Given the description of an element on the screen output the (x, y) to click on. 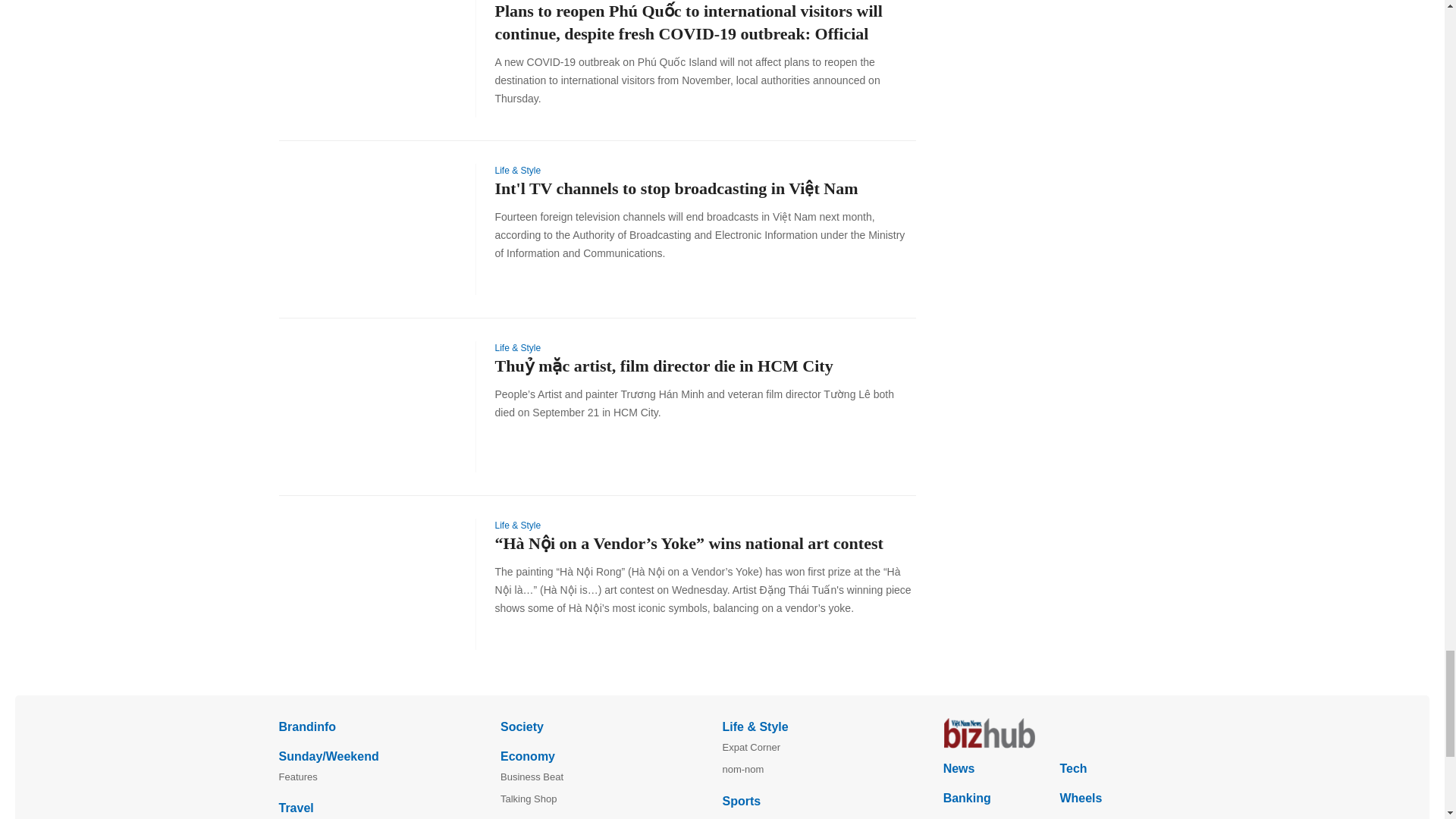
bizhub (1054, 733)
